Given the description of an element on the screen output the (x, y) to click on. 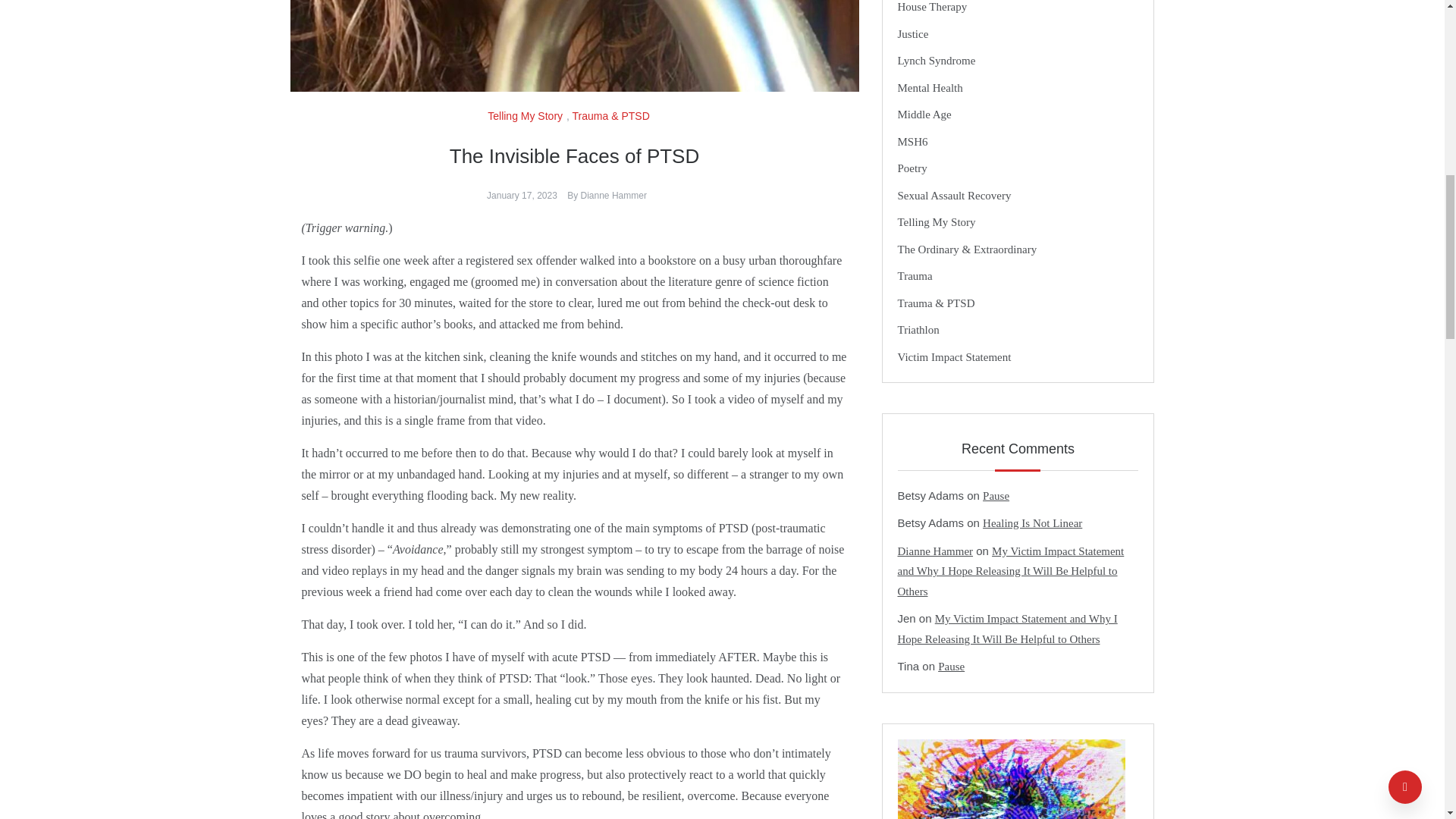
January 17, 2023 (521, 195)
Dianne Hammer (613, 195)
Telling My Story (526, 115)
